Given the description of an element on the screen output the (x, y) to click on. 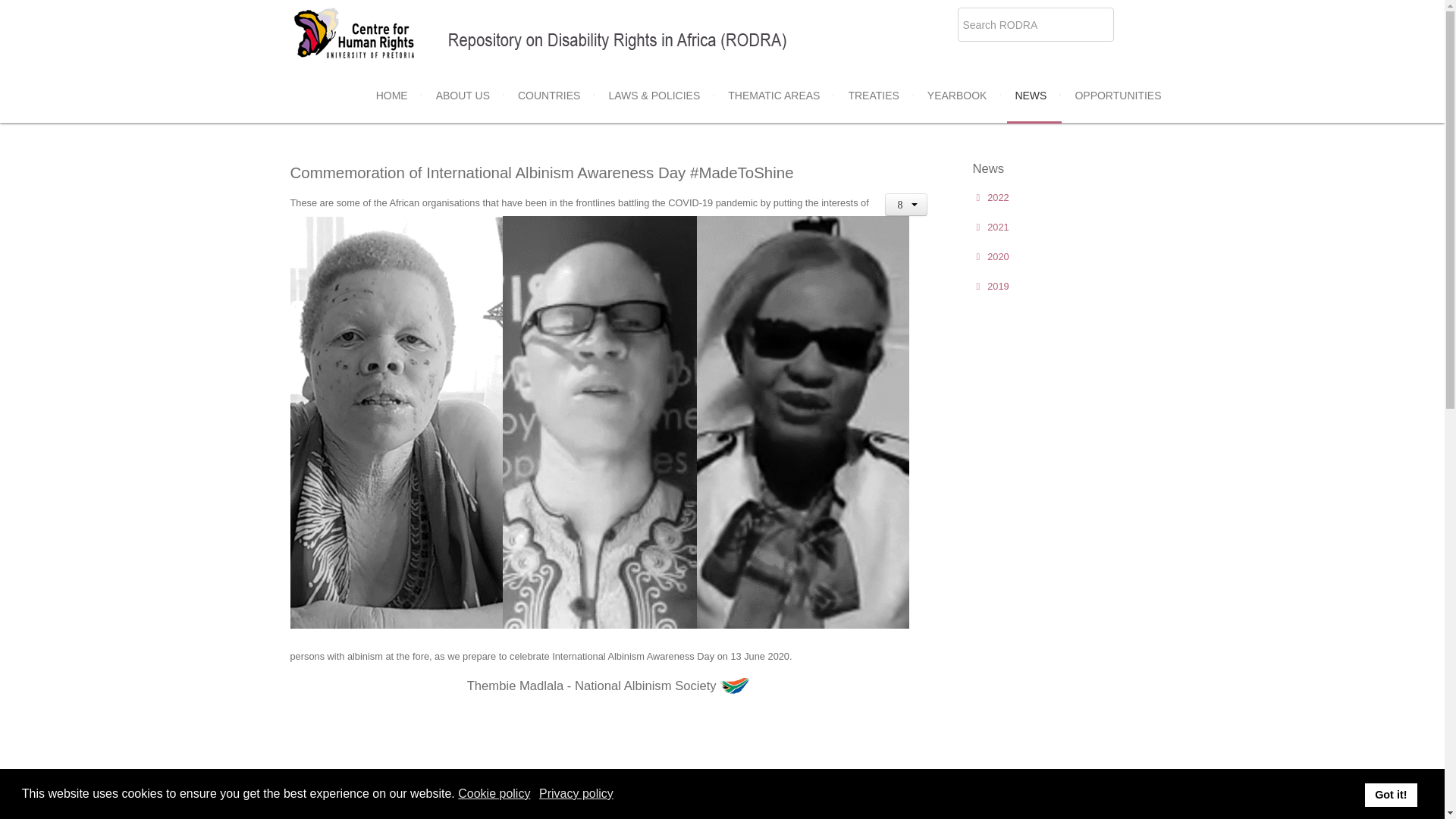
 - Dyslexic font -  (1347, 807)
Got it! (1390, 794)
Privacy policy (576, 793)
 - Increase -  (1275, 807)
HOME (392, 95)
 - Reset -  (1323, 807)
Cookie policy (495, 793)
 - Screen Reader -  (1103, 805)
ABOUT US (462, 95)
 - Toggle high contrast -  (1396, 807)
 - Play -  (1196, 807)
 - Toggle high contrast -  (1371, 807)
 - Decrease -  (1299, 807)
COUNTRIES (548, 95)
 - Stop -  (1245, 807)
